Given the description of an element on the screen output the (x, y) to click on. 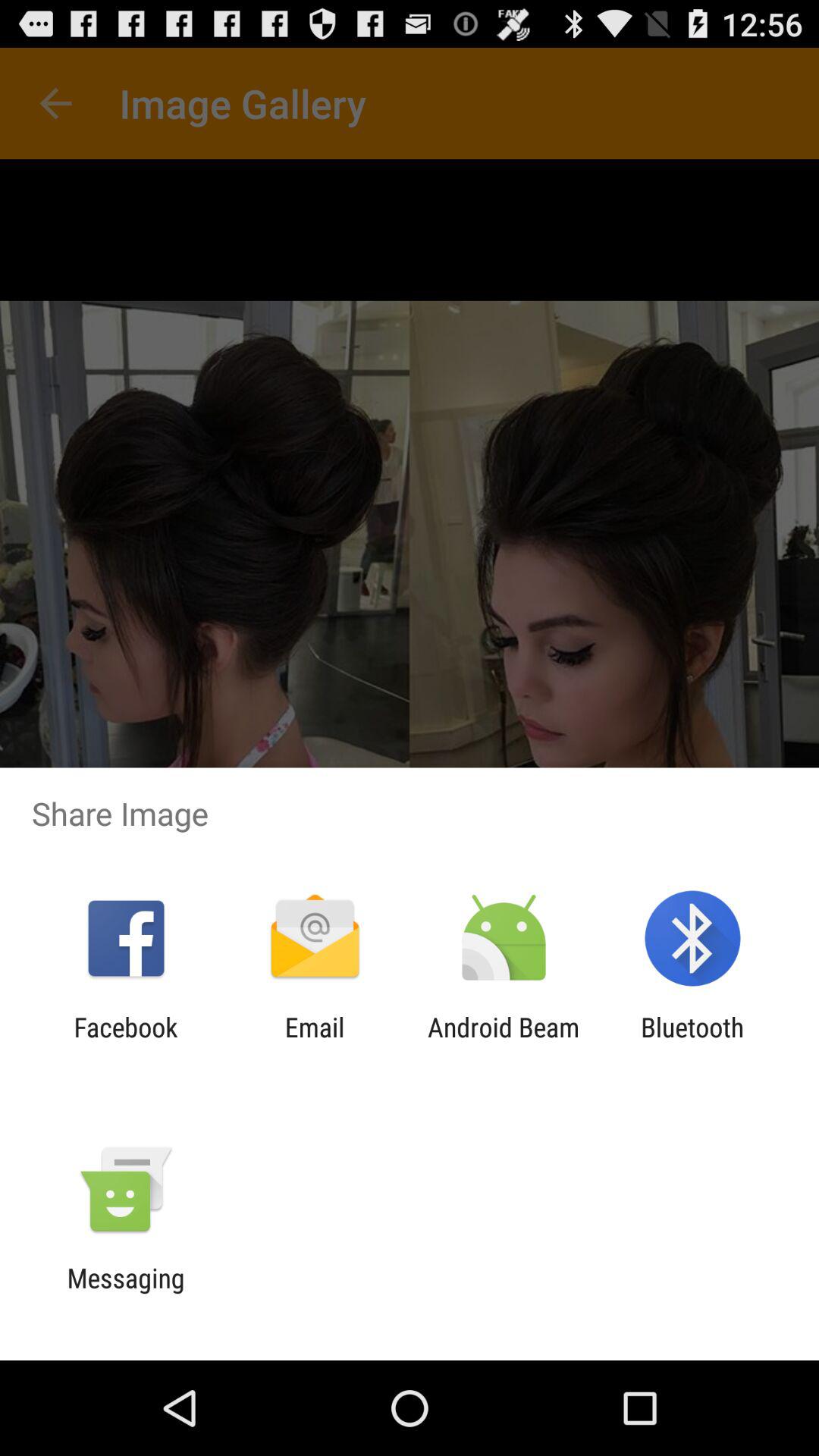
click app next to email item (503, 1042)
